Given the description of an element on the screen output the (x, y) to click on. 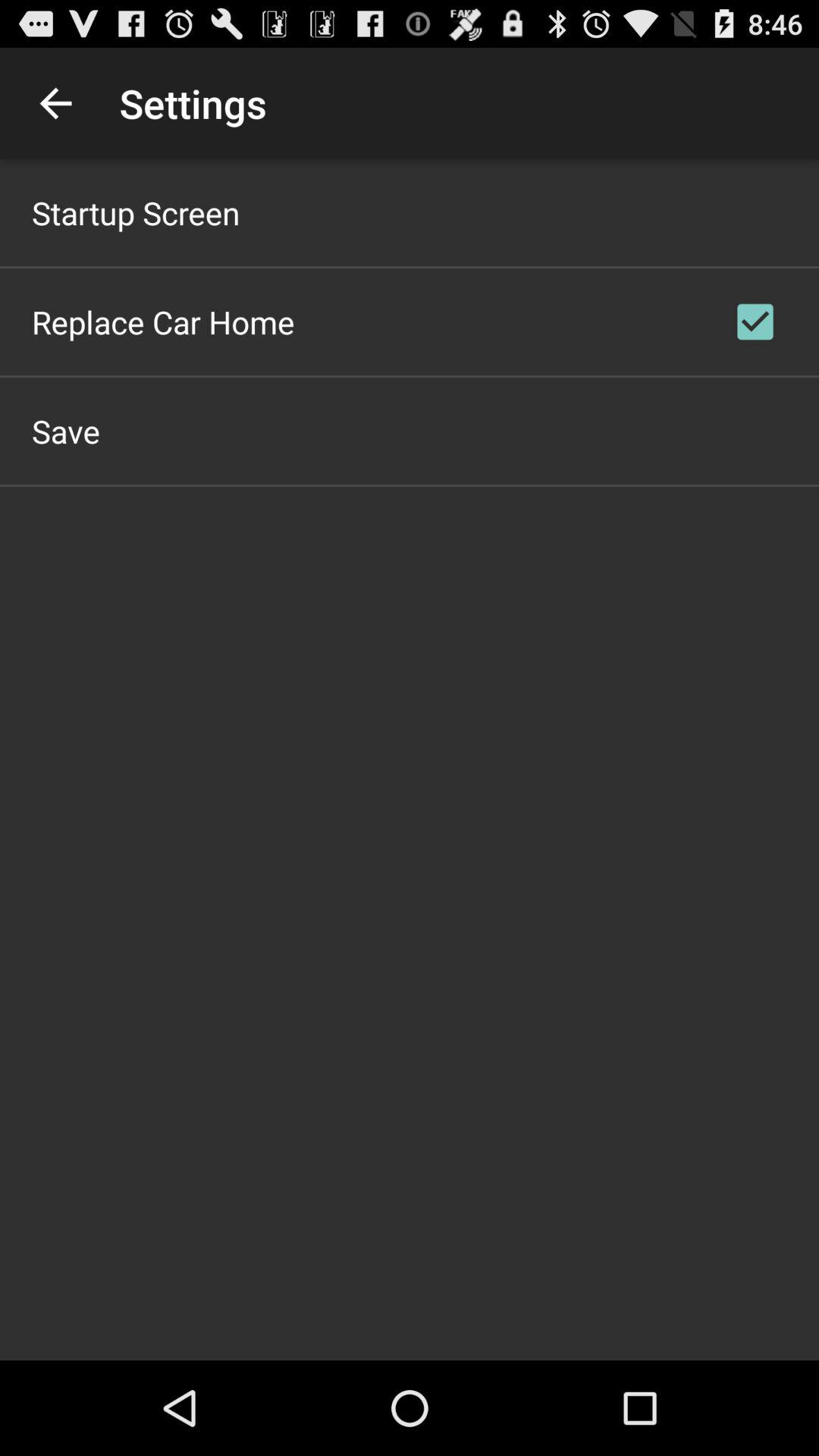
turn on checkbox at the top right corner (755, 321)
